Given the description of an element on the screen output the (x, y) to click on. 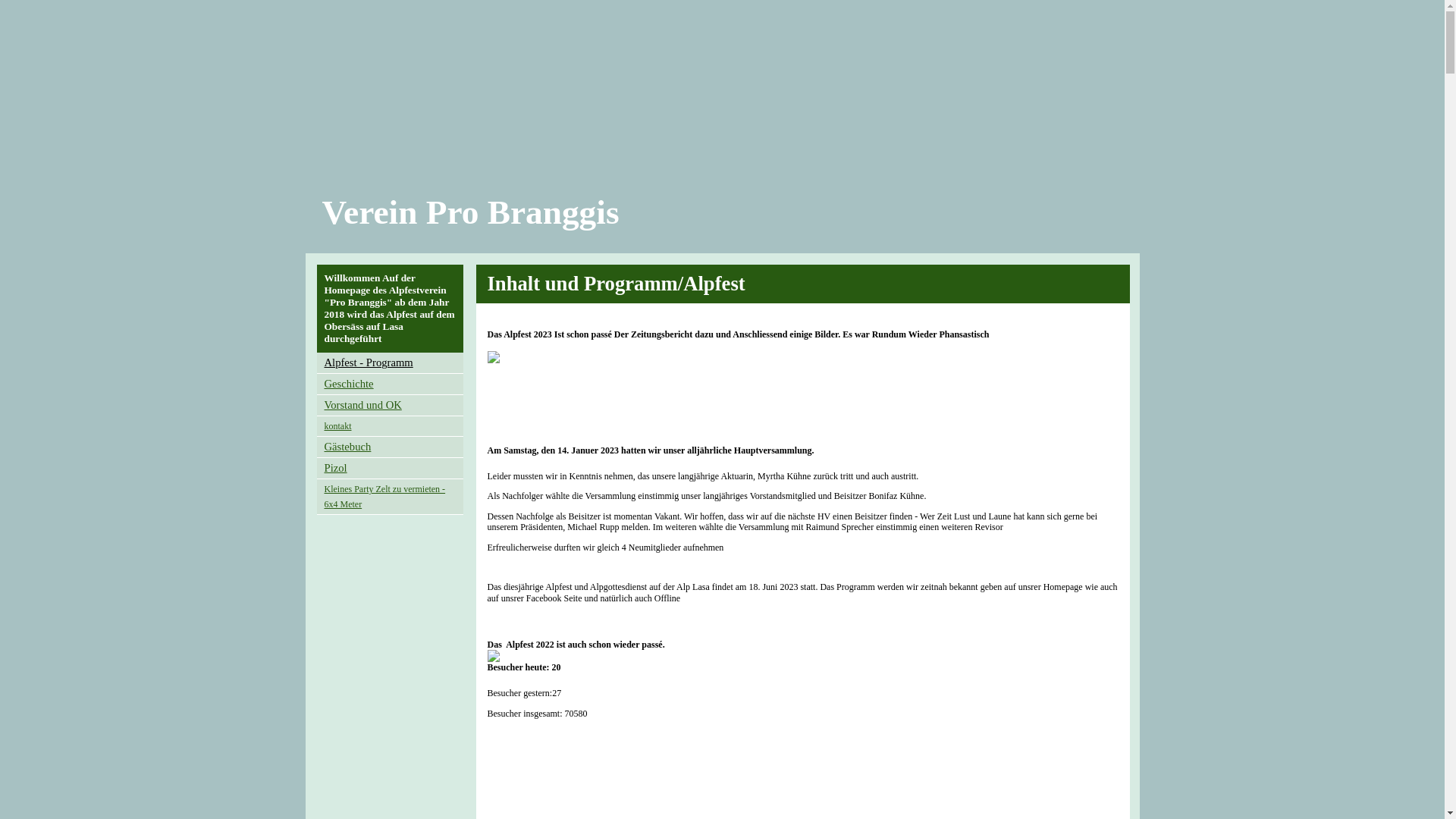
Vorstand und OK Element type: text (362, 405)
Alpfest - Programm Element type: text (368, 362)
Geschichte Element type: text (348, 384)
Kleines Party Zelt zu vermieten - 6x4 Meter Element type: text (384, 496)
Pizol Element type: text (335, 468)
kontakt Element type: text (337, 425)
